Given the description of an element on the screen output the (x, y) to click on. 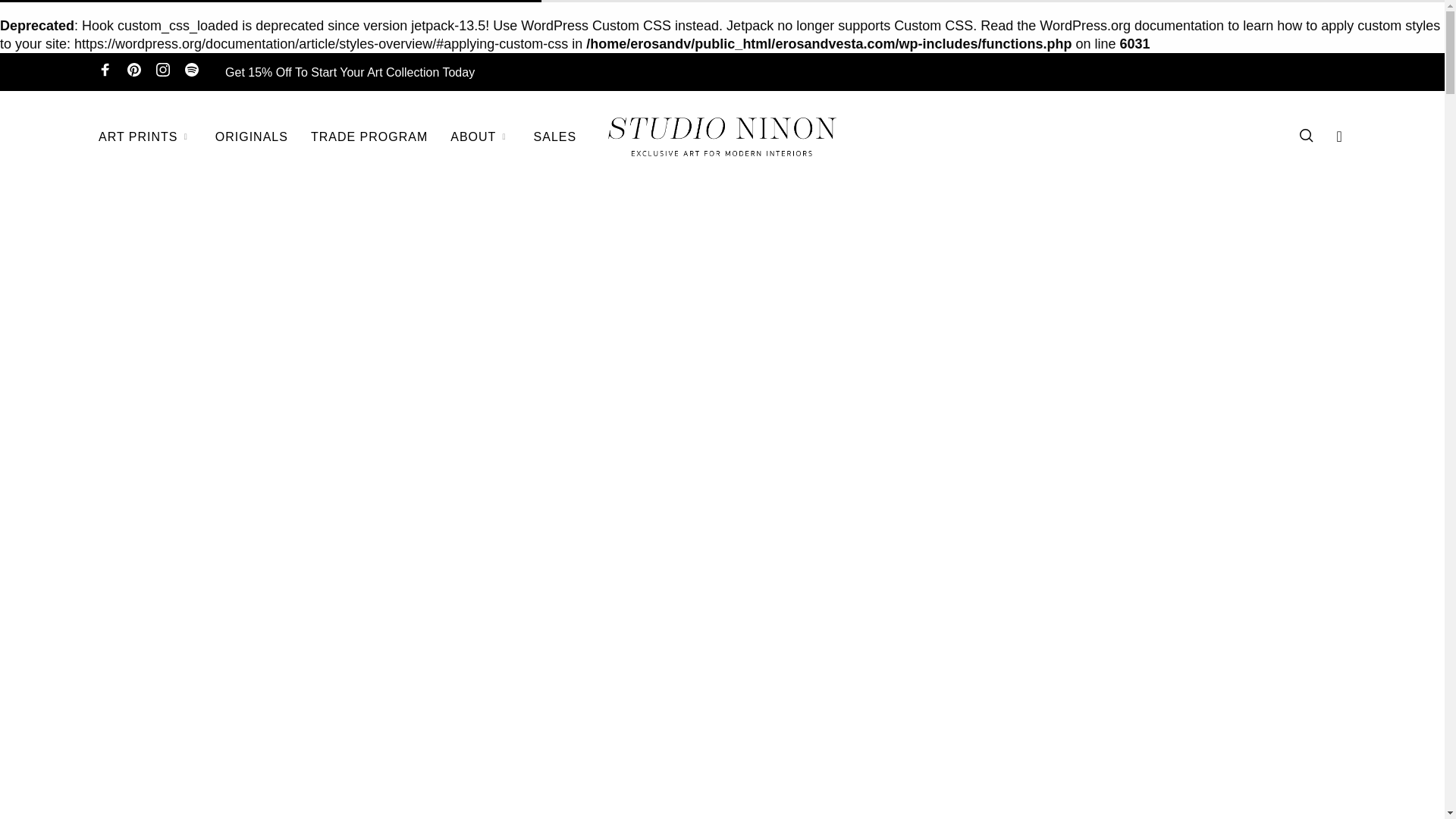
TRADE PROGRAM (369, 136)
ART PRINTS (145, 136)
Facebook (105, 72)
Instagram (162, 72)
Pinterest (134, 72)
SALES (555, 136)
ABOUT (480, 136)
ORIGINALS (251, 136)
Exclusive Art for Modern Interiors (721, 136)
Spotify (191, 72)
